Given the description of an element on the screen output the (x, y) to click on. 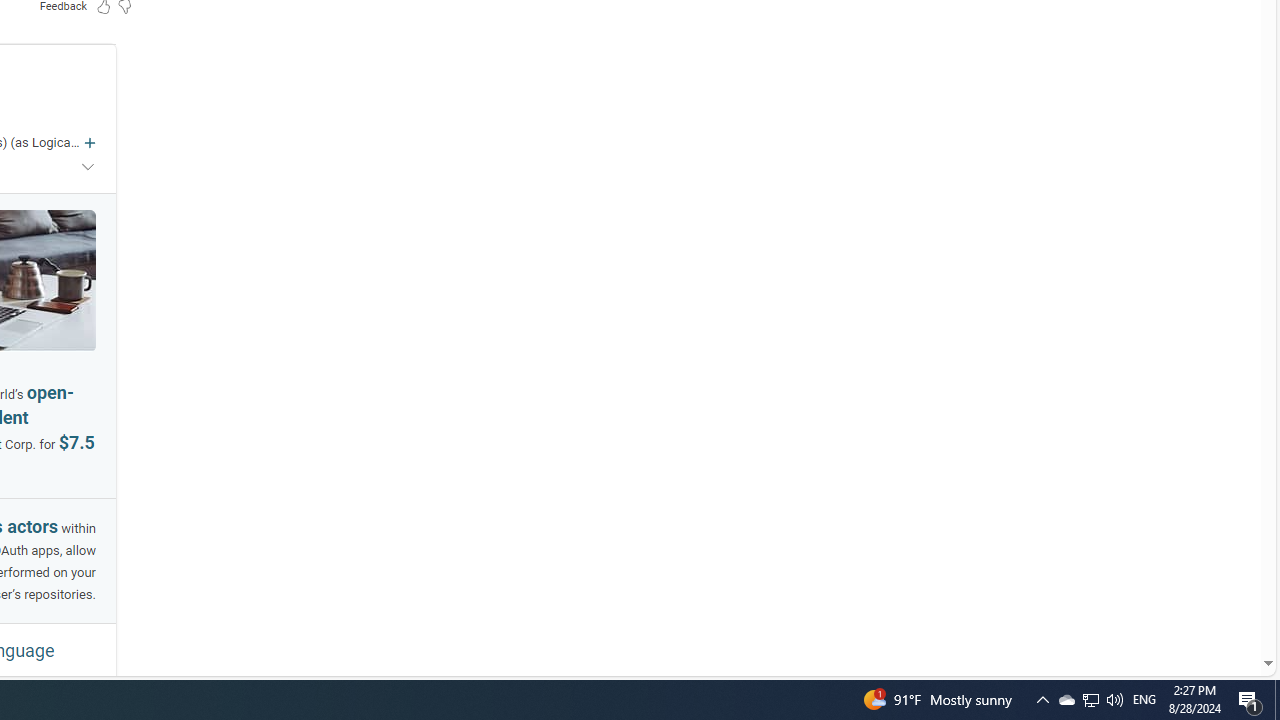
AutomationID: mfa_root (1192, 603)
Search more (1222, 604)
